Given the description of an element on the screen output the (x, y) to click on. 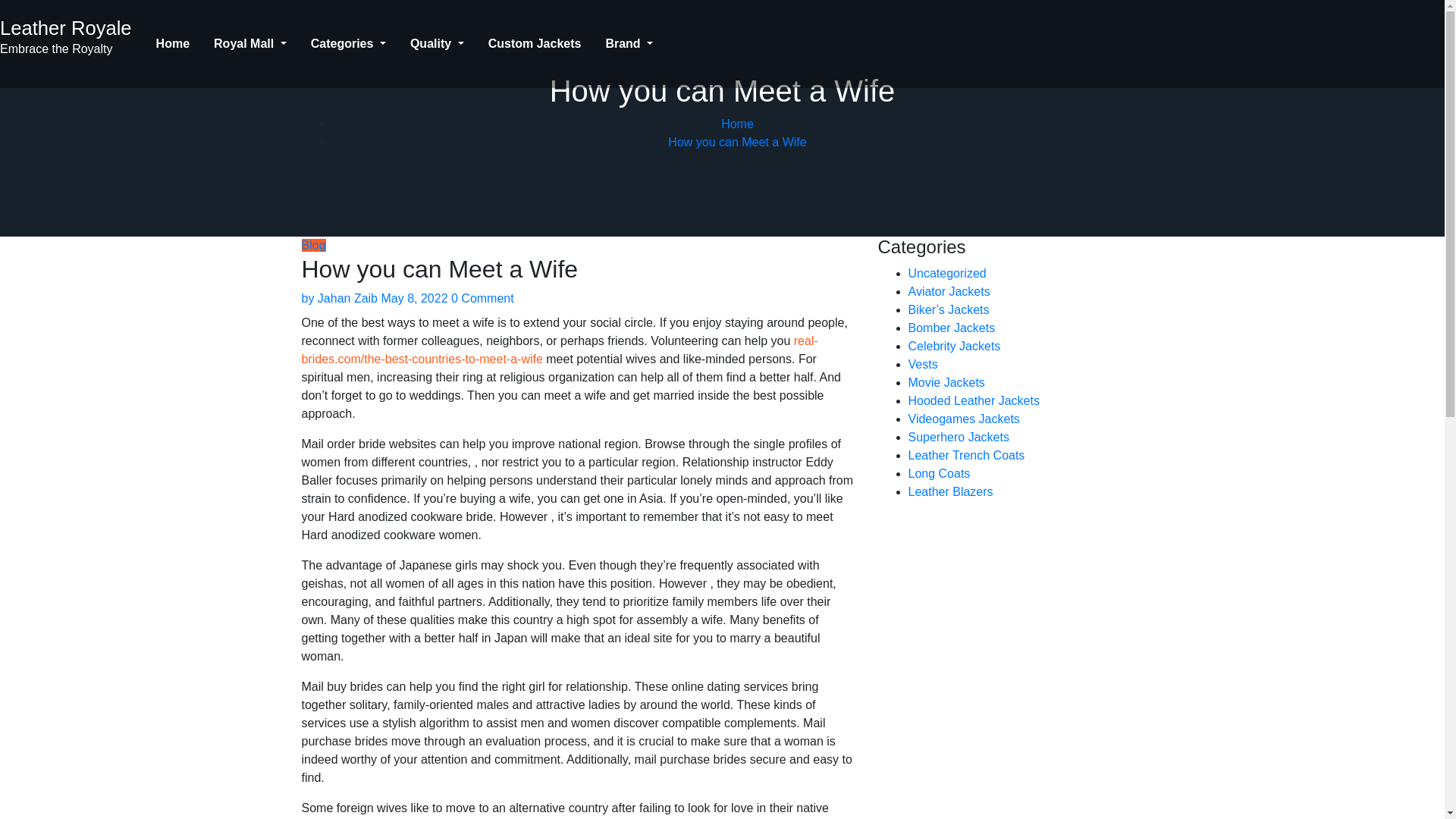
Quality (436, 44)
How you can Meet a Wife (737, 141)
Home (737, 123)
Custom Jackets (535, 44)
Royal Mall (250, 44)
Categories (347, 44)
Leather Royale (66, 27)
Brand (628, 44)
